Given the description of an element on the screen output the (x, y) to click on. 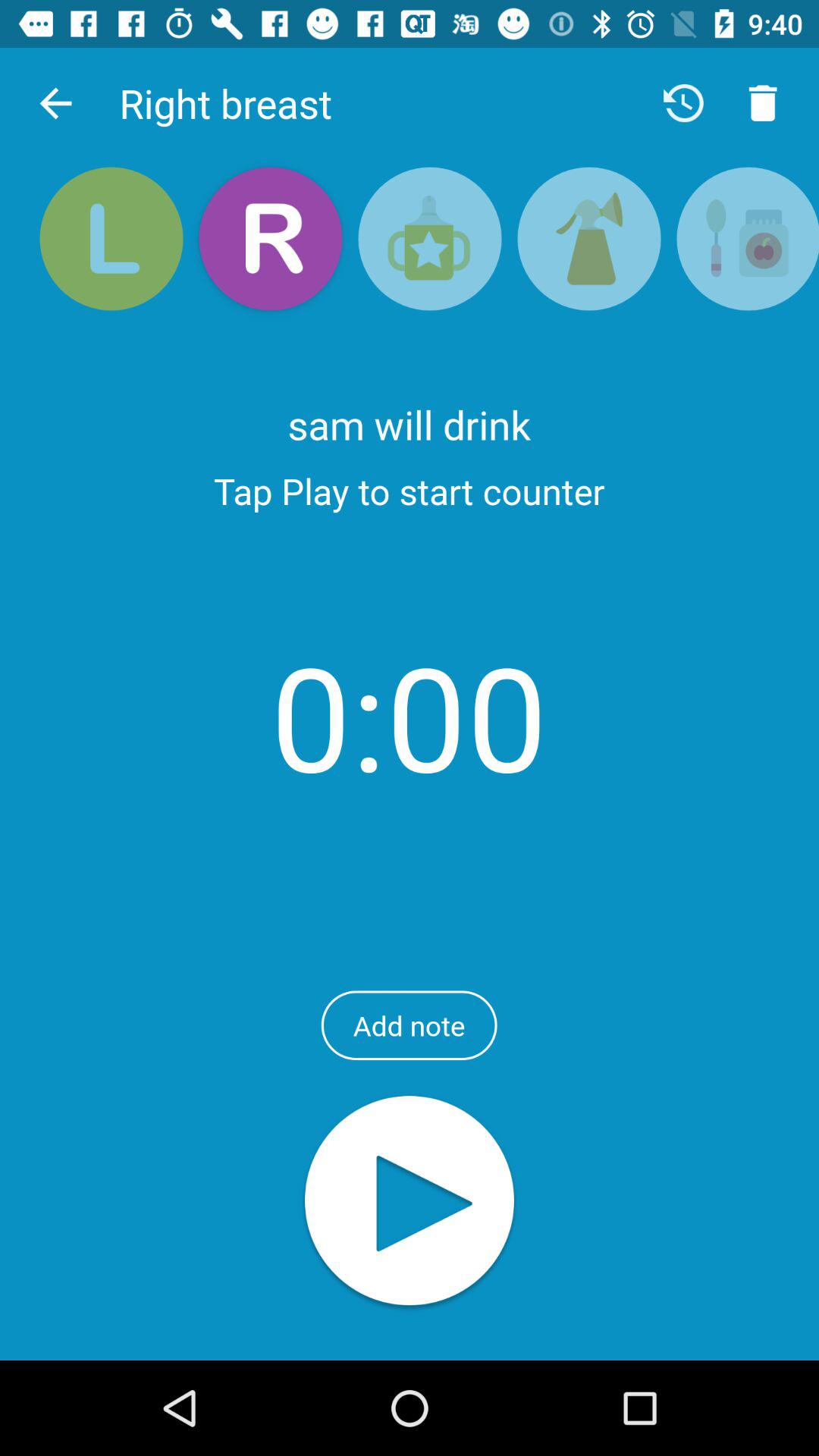
click icon next to right breast icon (55, 103)
